Given the description of an element on the screen output the (x, y) to click on. 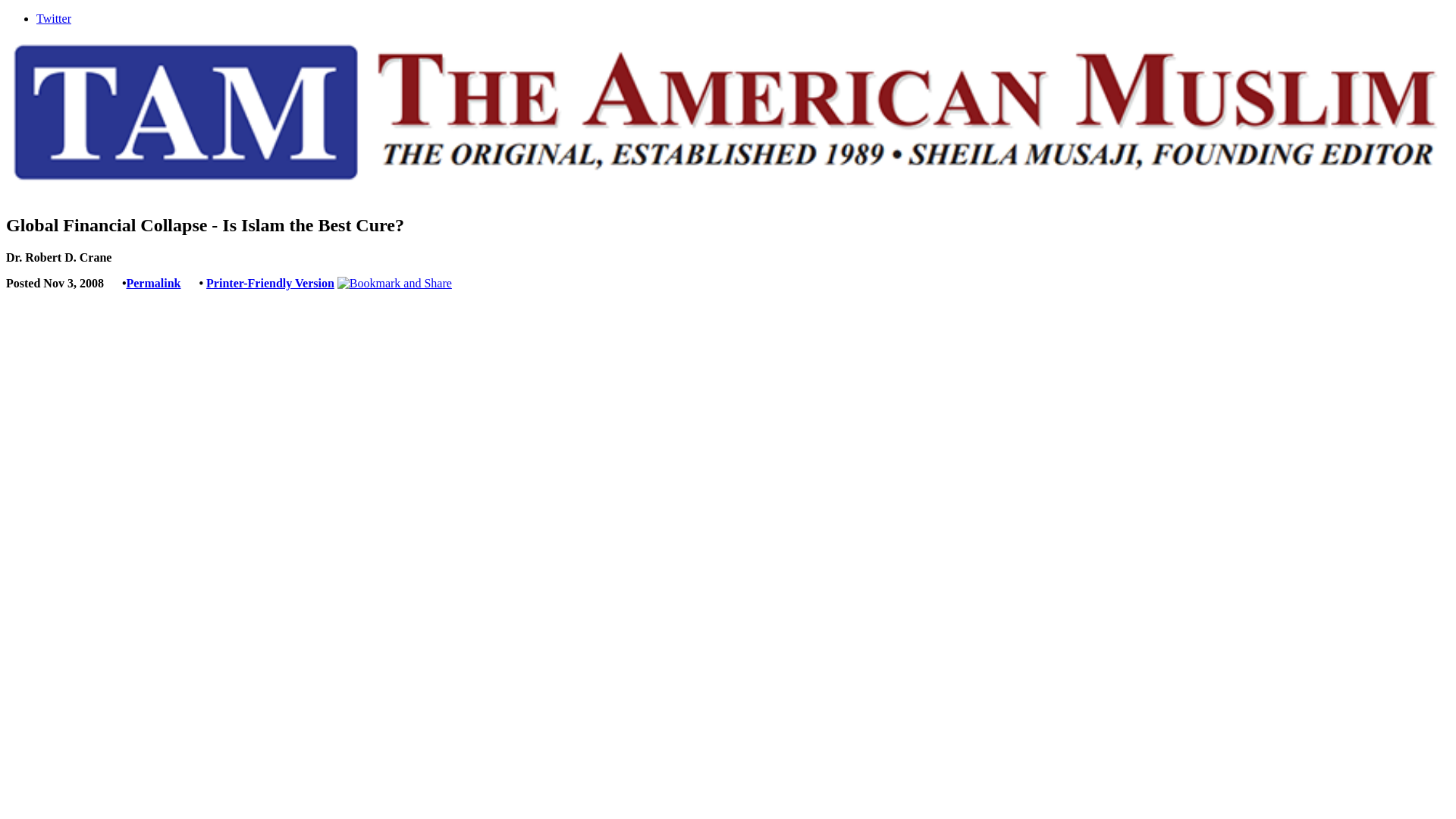
Twitter (53, 18)
